Given the description of an element on the screen output the (x, y) to click on. 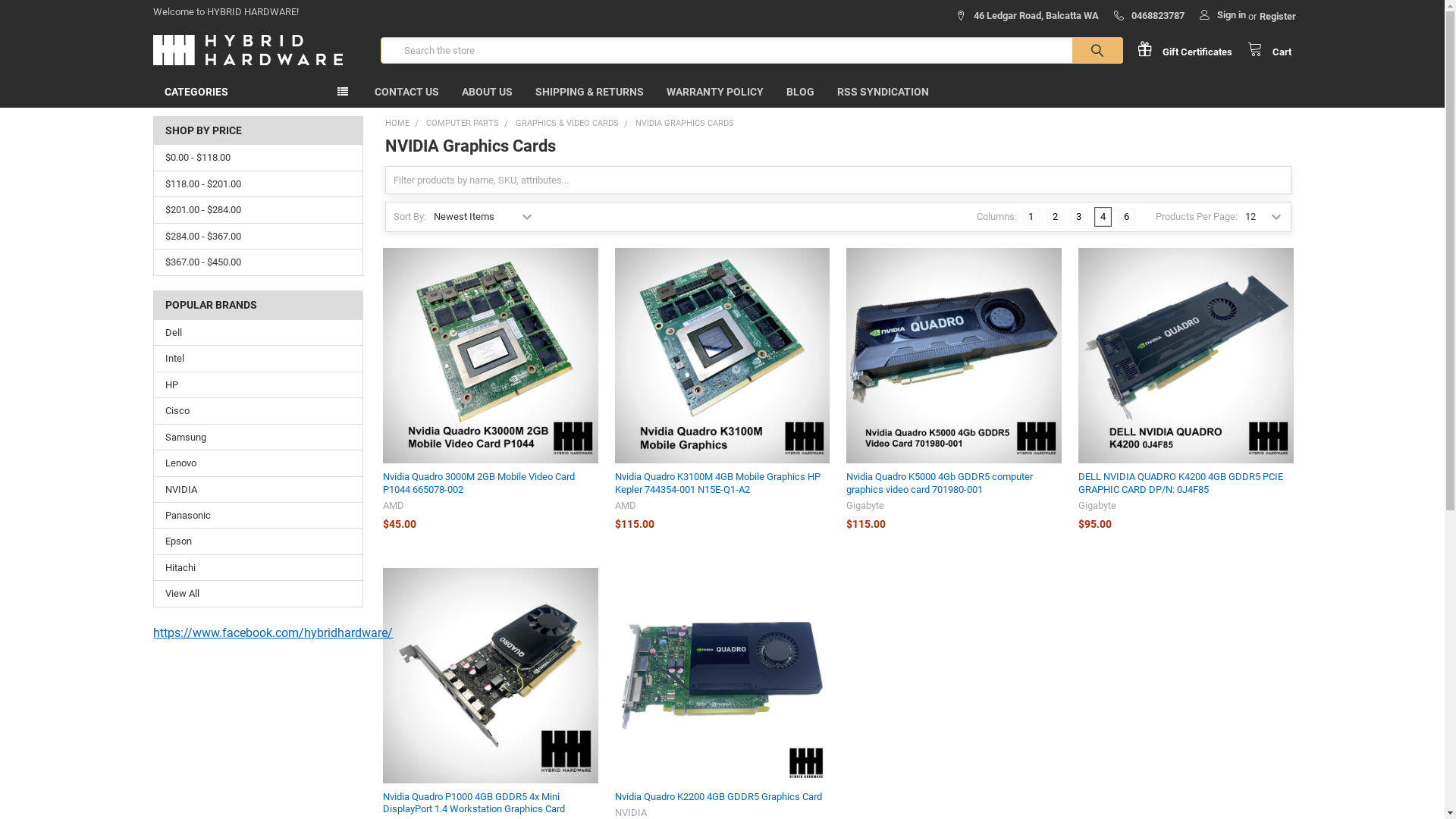
Gift Certificates Element type: text (1191, 49)
CONTACT US Element type: text (406, 91)
Intel Element type: text (257, 358)
COMPUTER PARTS Element type: text (462, 123)
NVIDIA GRAPHICS CARDS Element type: text (684, 123)
RSS SYNDICATION Element type: text (882, 91)
$118.00 - $201.00 Element type: text (257, 183)
WARRANTY POLICY Element type: text (715, 91)
NVIDIA Element type: text (257, 489)
HOME Element type: text (397, 123)
Sign in Element type: text (1222, 10)
CATEGORIES Element type: text (257, 91)
$201.00 - $284.00 Element type: text (257, 209)
Nvidia Quadro K2200 4GB GDDR5 Graphics Card Element type: hover (722, 675)
HYBRID HARDWARE Element type: hover (247, 49)
Panasonic Element type: text (257, 515)
Epson Element type: text (257, 541)
Nvidia Quadro 3000M 2GB Mobile Video Card P1044 665078-002 Element type: hover (490, 355)
Nvidia Quadro 3000M 2GB Mobile Video Card P1044 665078-002 Element type: text (478, 482)
SHIPPING & RETURNS Element type: text (589, 91)
HP Element type: text (257, 384)
0468823787 Element type: text (1149, 11)
Register Element type: text (1277, 12)
$284.00 - $367.00 Element type: text (257, 236)
Nvidia Quadro K2200 4GB GDDR5 Graphics Card Element type: text (718, 796)
ABOUT US Element type: text (487, 91)
Dell Element type: text (257, 332)
GRAPHICS & VIDEO CARDS Element type: text (566, 123)
$367.00 - $450.00 Element type: text (257, 261)
Cisco Element type: text (257, 410)
View All Element type: text (257, 593)
Cart Element type: text (1269, 49)
Search Element type: text (1081, 50)
https://www.facebook.com/hybridhardware/ Element type: text (272, 632)
Lenovo Element type: text (257, 462)
$0.00 - $118.00 Element type: text (257, 157)
Hitachi Element type: text (257, 567)
BLOG Element type: text (800, 91)
Samsung Element type: text (257, 437)
